Given the description of an element on the screen output the (x, y) to click on. 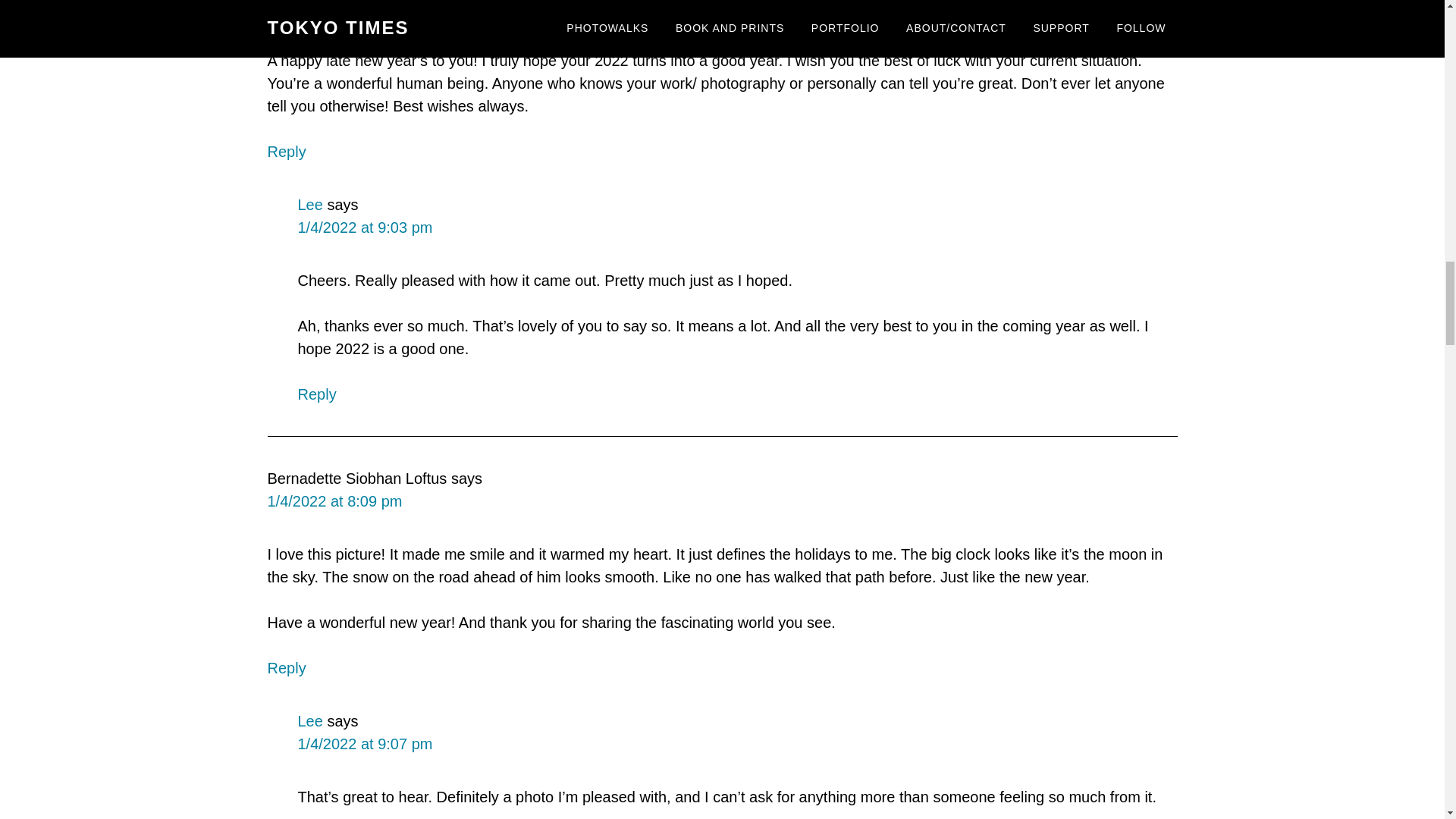
Reply (316, 393)
Reply (285, 668)
Reply (285, 151)
Lee (309, 204)
